Given the description of an element on the screen output the (x, y) to click on. 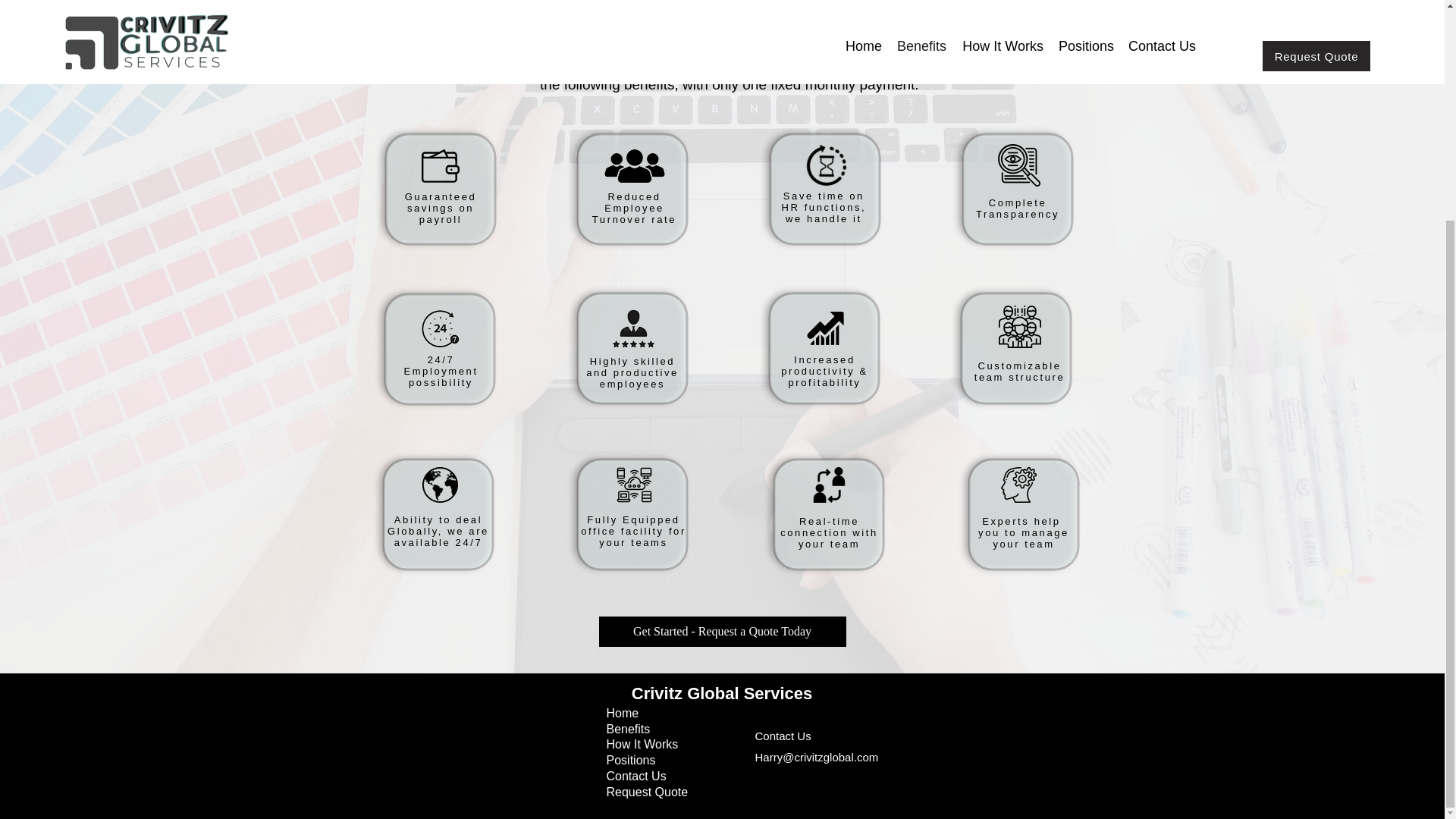
How It Works (642, 744)
Home (623, 712)
Get Started - Request a Quote Today (721, 631)
Contact Us (636, 775)
Benefits (628, 728)
Positions (631, 759)
Request Quote (647, 791)
